Given the description of an element on the screen output the (x, y) to click on. 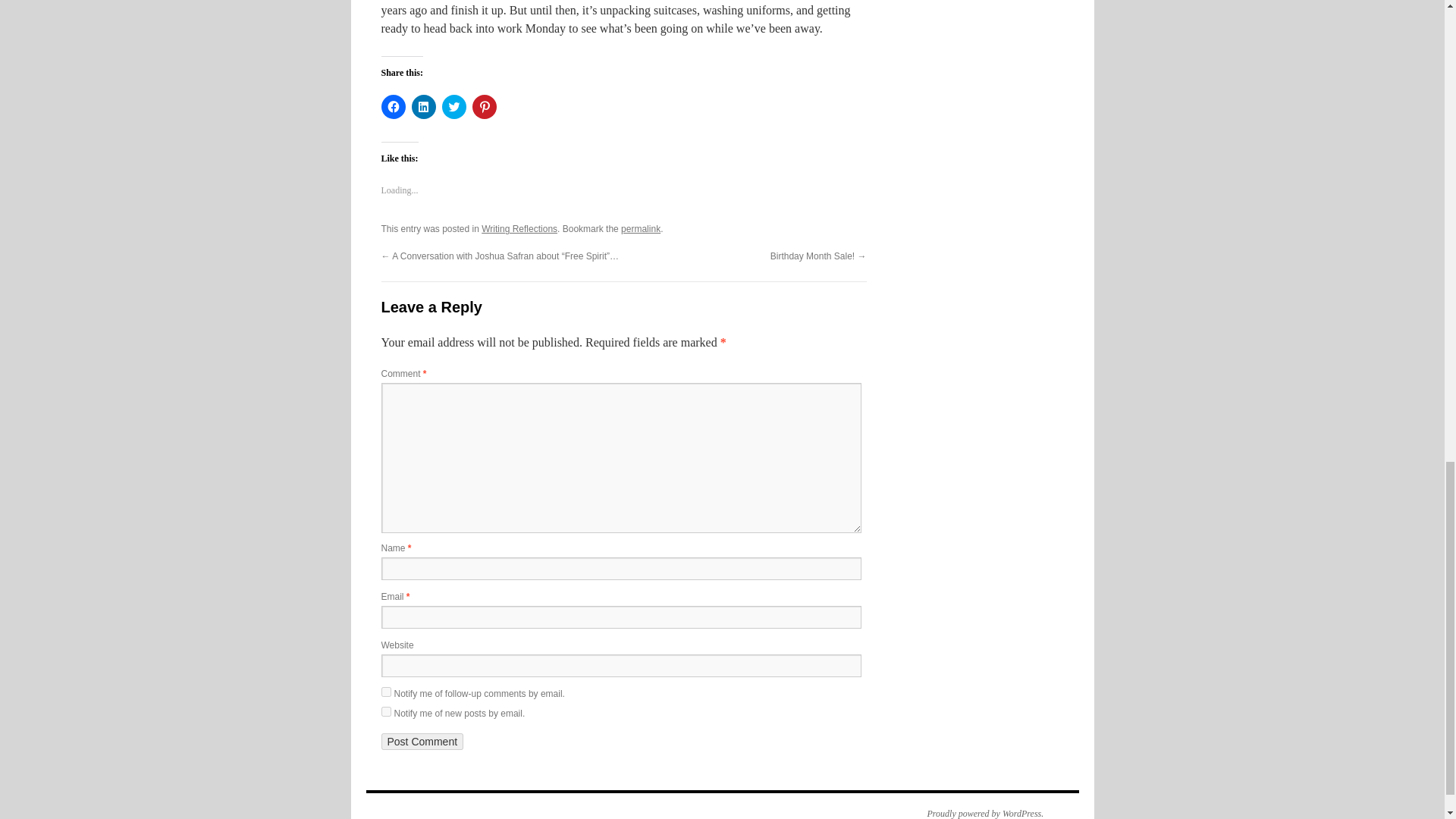
Click to share on Pinterest (483, 106)
Post Comment (421, 741)
subscribe (385, 711)
Post Comment (421, 741)
Click to share on Twitter (453, 106)
Writing Reflections (519, 228)
subscribe (385, 691)
permalink (641, 228)
Click to share on Facebook (392, 106)
Click to share on LinkedIn (422, 106)
